Given the description of an element on the screen output the (x, y) to click on. 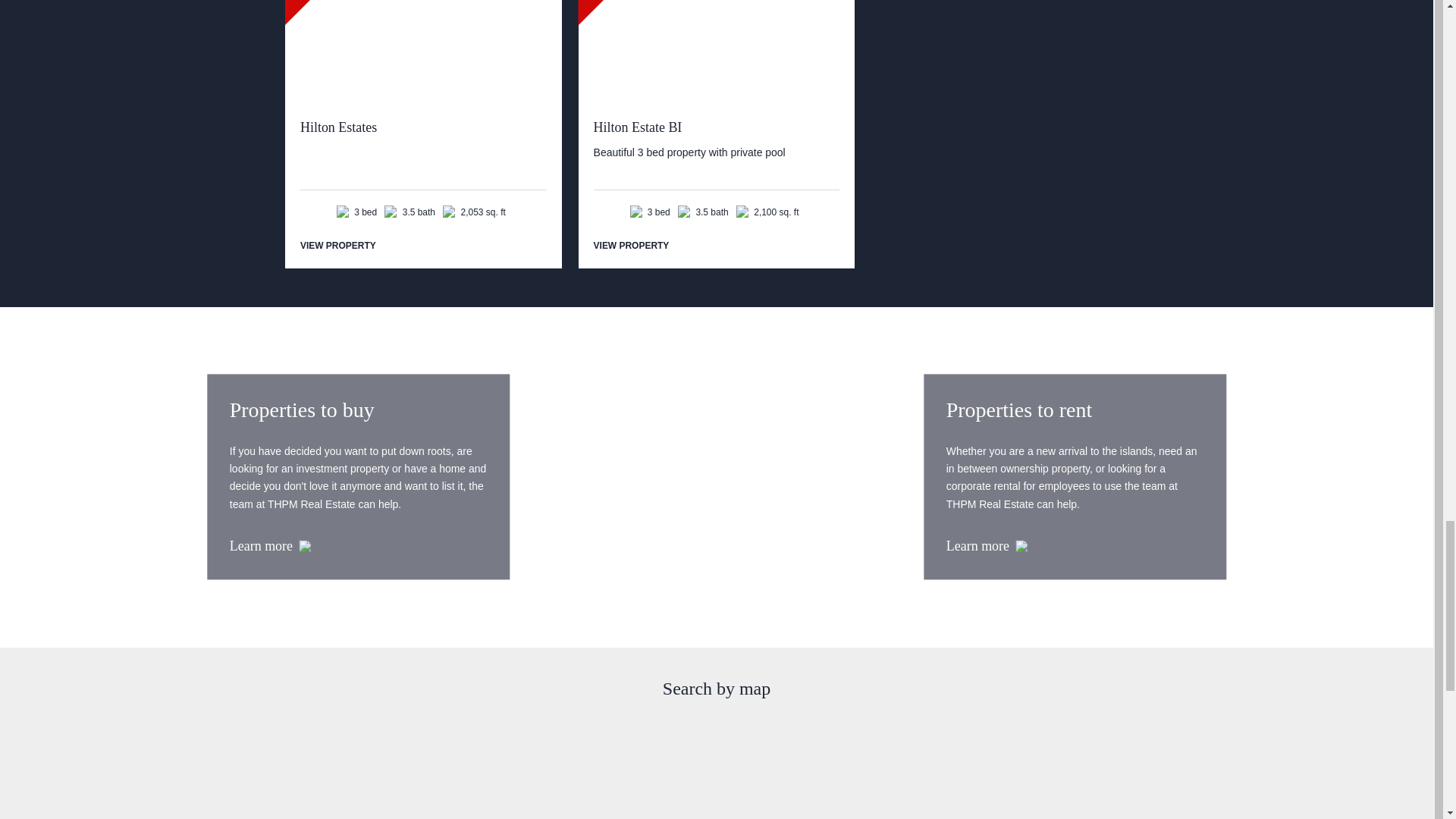
Learn more (1075, 546)
Learn more (358, 546)
